Given the description of an element on the screen output the (x, y) to click on. 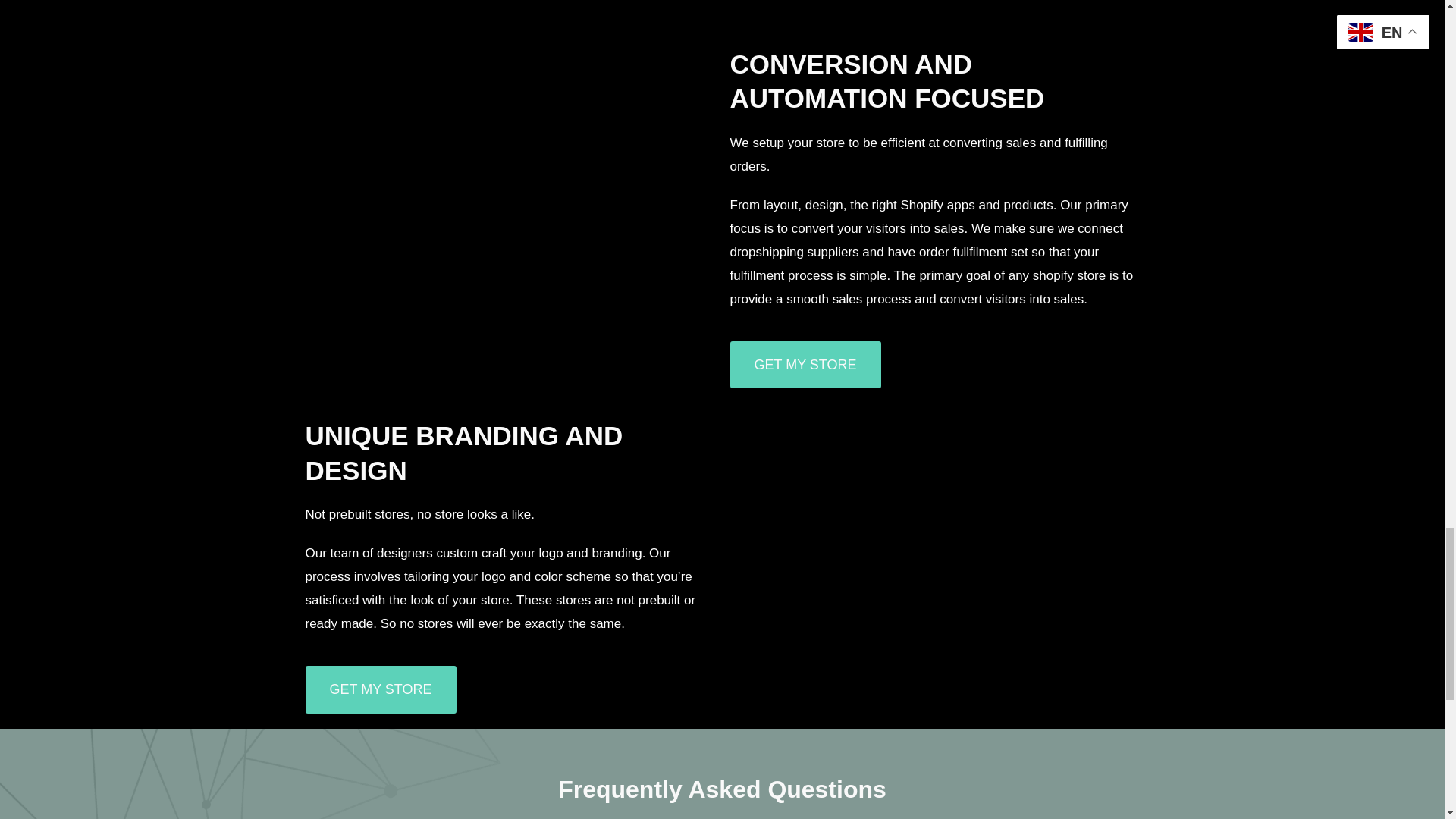
GET MY STORE (804, 365)
GET MY STORE (379, 689)
